Given the description of an element on the screen output the (x, y) to click on. 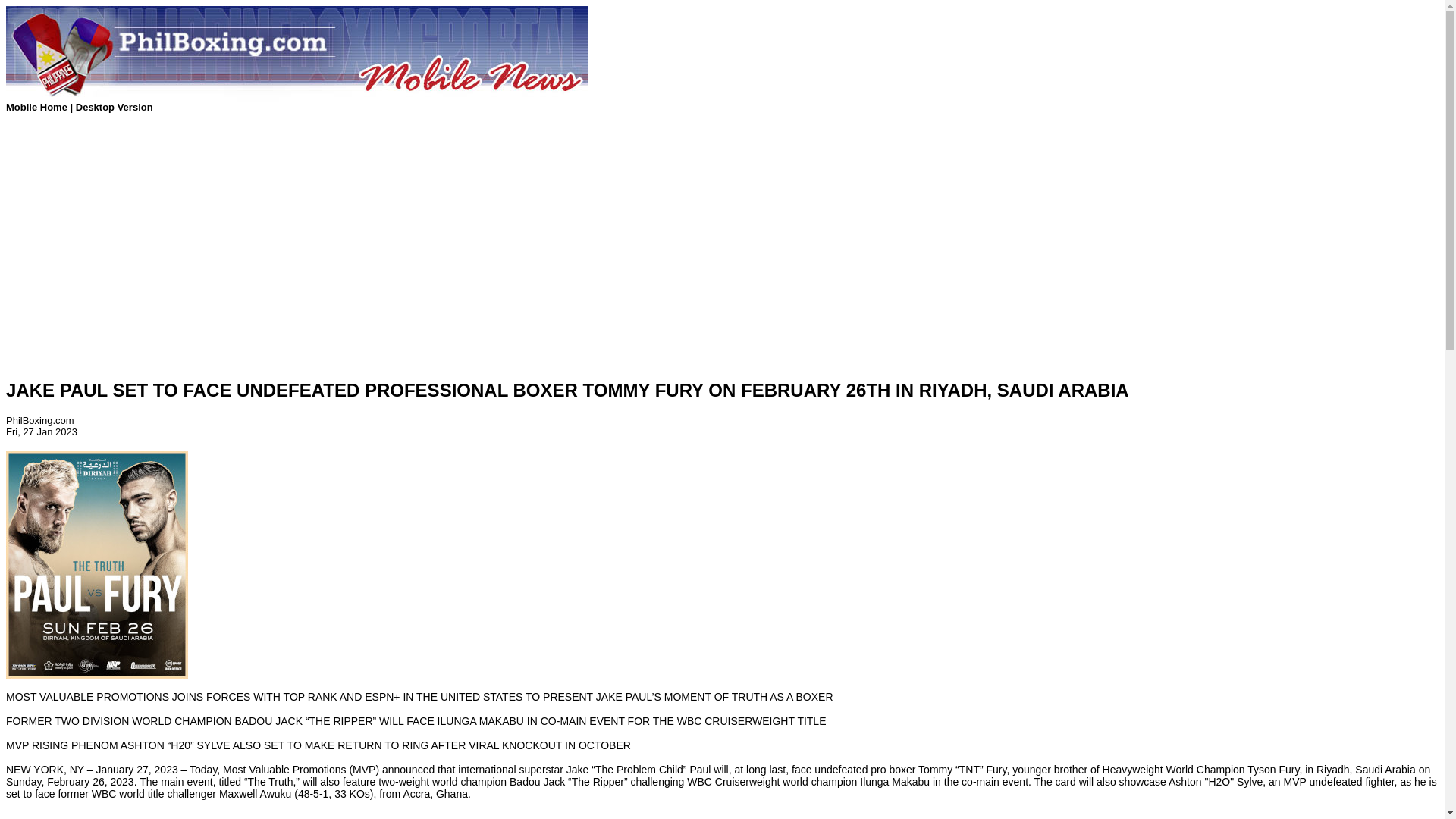
Desktop Version (113, 107)
Mobile Home (37, 107)
Advertisement (721, 809)
